Given the description of an element on the screen output the (x, y) to click on. 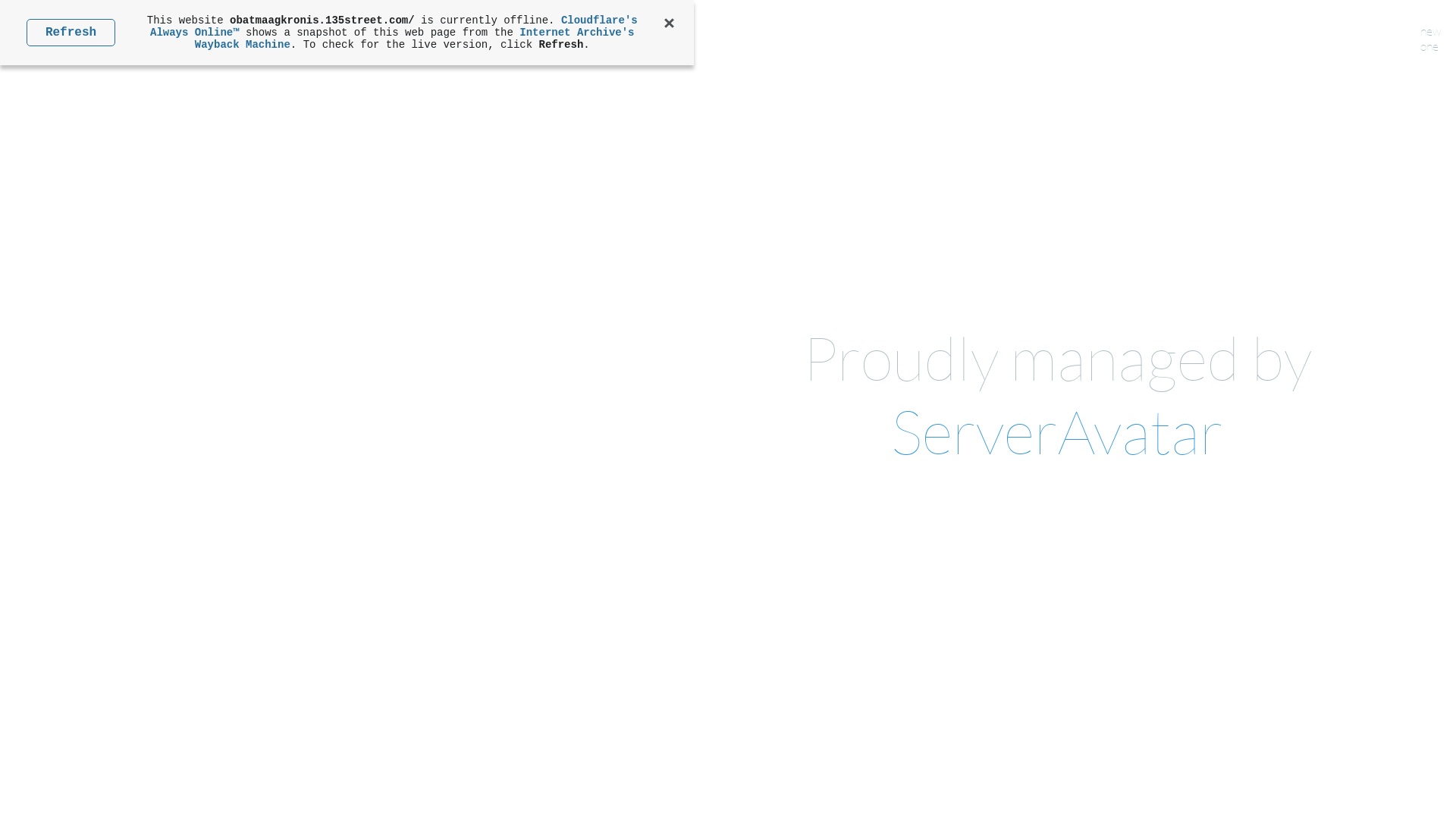
Internet Archive's Wayback Machine Element type: text (414, 38)
Refresh Element type: text (70, 32)
ServerAvatar Element type: text (1057, 430)
